Given the description of an element on the screen output the (x, y) to click on. 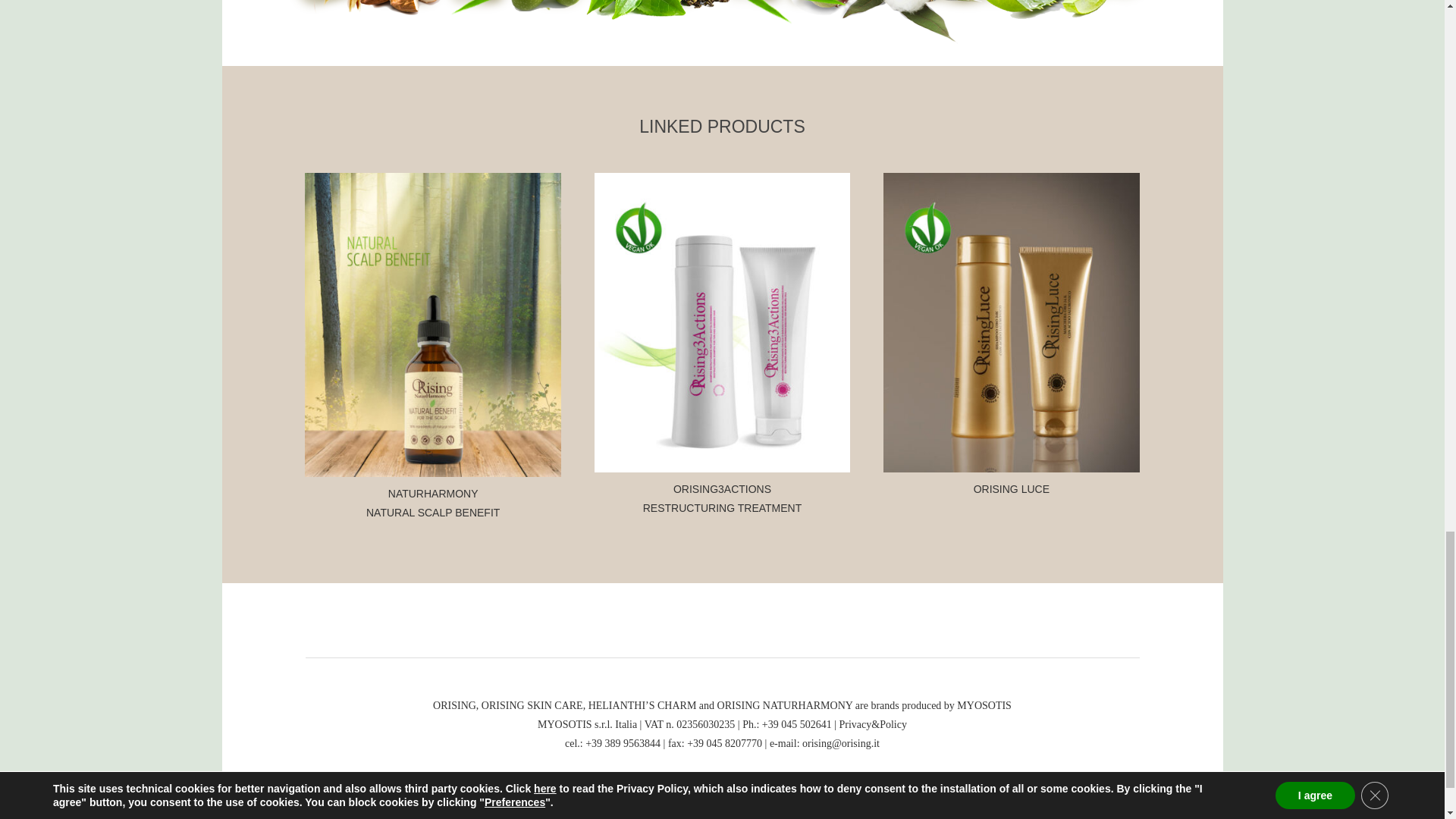
Naturharmony-REPARING-sostanze-naturali (707, 23)
